Given the description of an element on the screen output the (x, y) to click on. 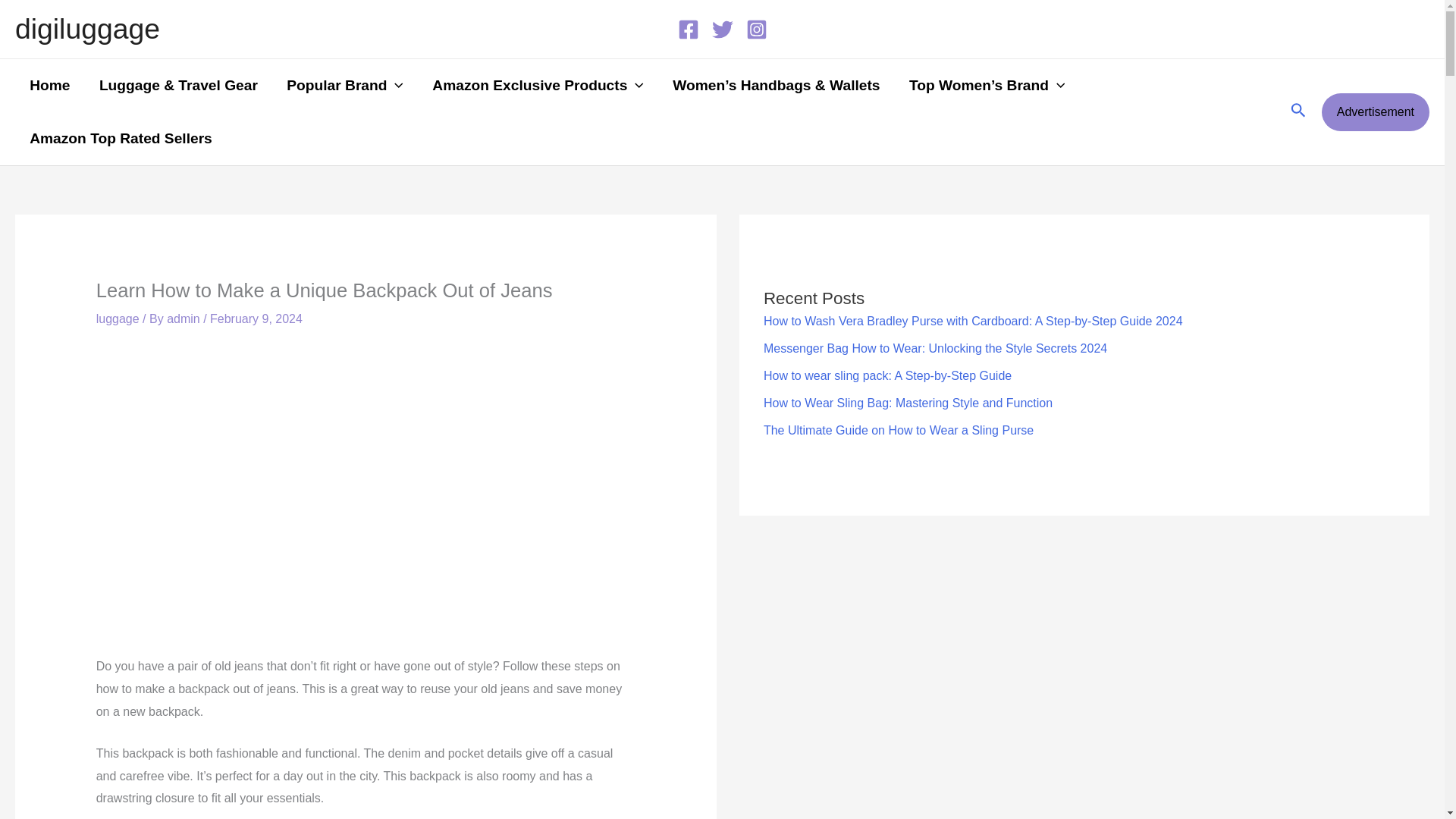
digiluggage (87, 29)
Amazon Top Rated Sellers (120, 138)
Popular Brand (344, 85)
Amazon Exclusive Products (537, 85)
Home (49, 85)
View all posts by admin (185, 318)
